Given the description of an element on the screen output the (x, y) to click on. 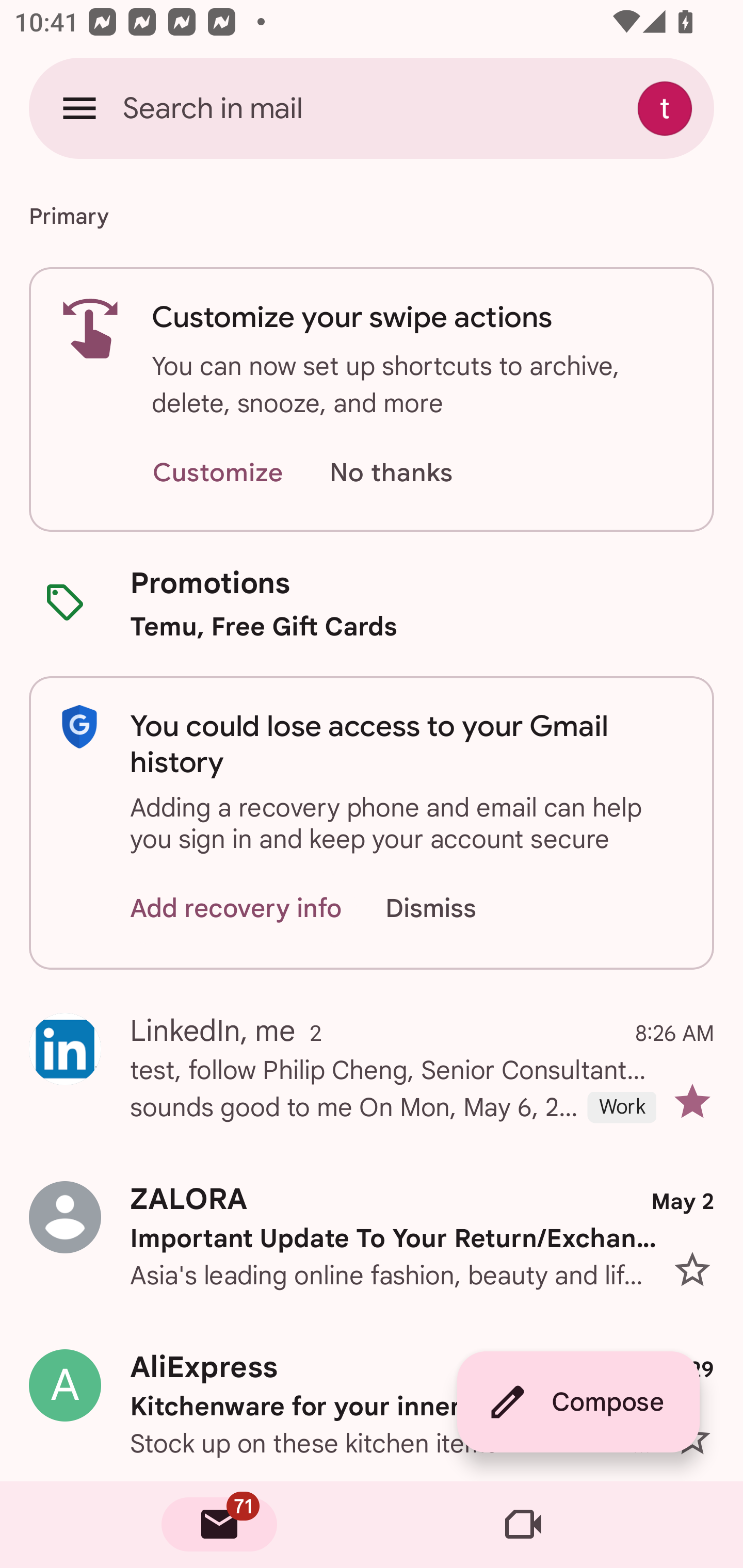
Open navigation drawer (79, 108)
Customize (217, 473)
No thanks (390, 473)
Promotions Temu, Free Gift Cards (371, 603)
Add recovery info (235, 908)
Dismiss (449, 908)
Compose (577, 1401)
Meet (523, 1524)
